Given the description of an element on the screen output the (x, y) to click on. 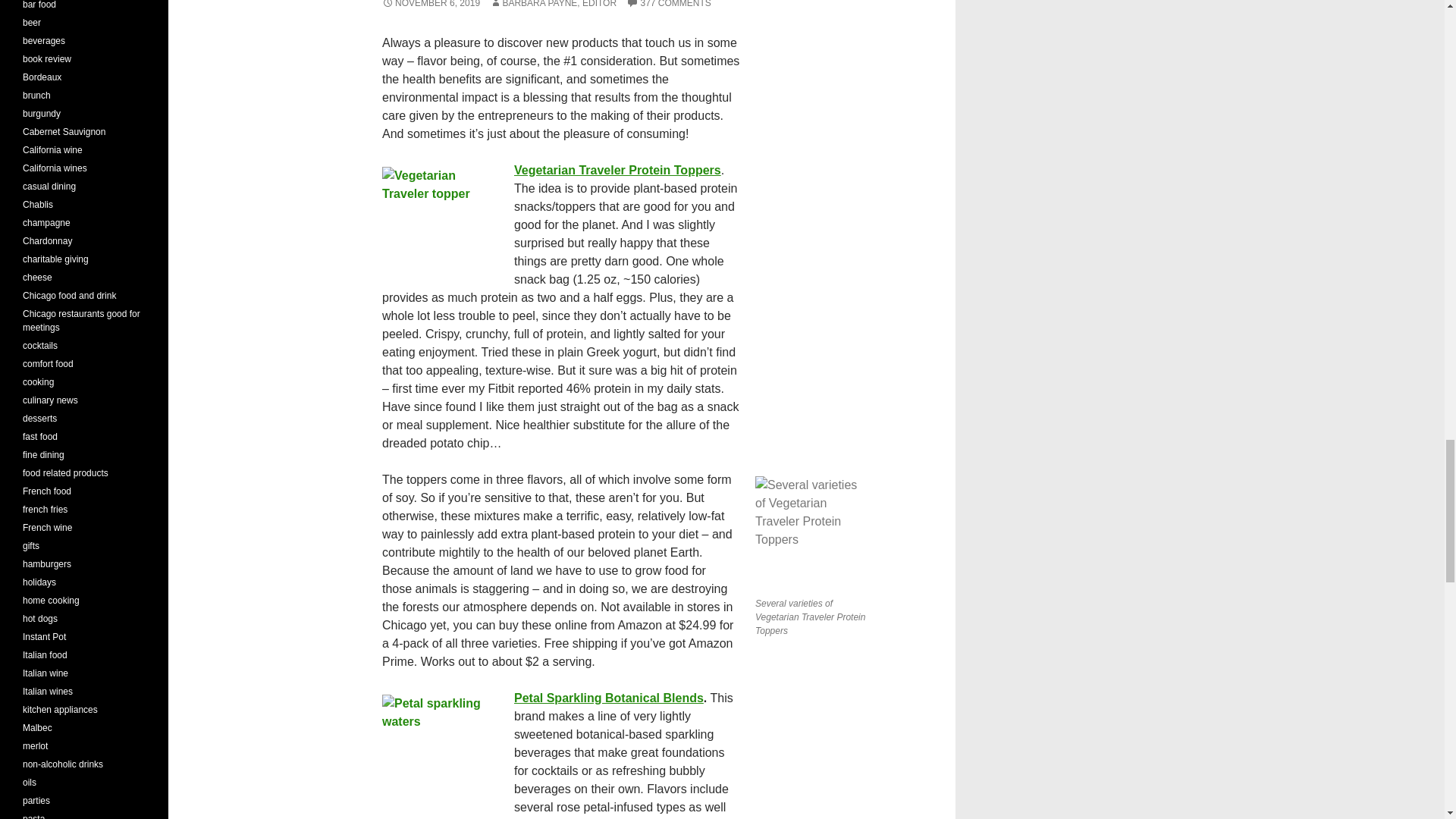
NOVEMBER 6, 2019 (430, 4)
Vegetarian Traveler Protein Toppers (616, 169)
377 COMMENTS (668, 4)
BARBARA PAYNE, EDITOR (552, 4)
